Given the description of an element on the screen output the (x, y) to click on. 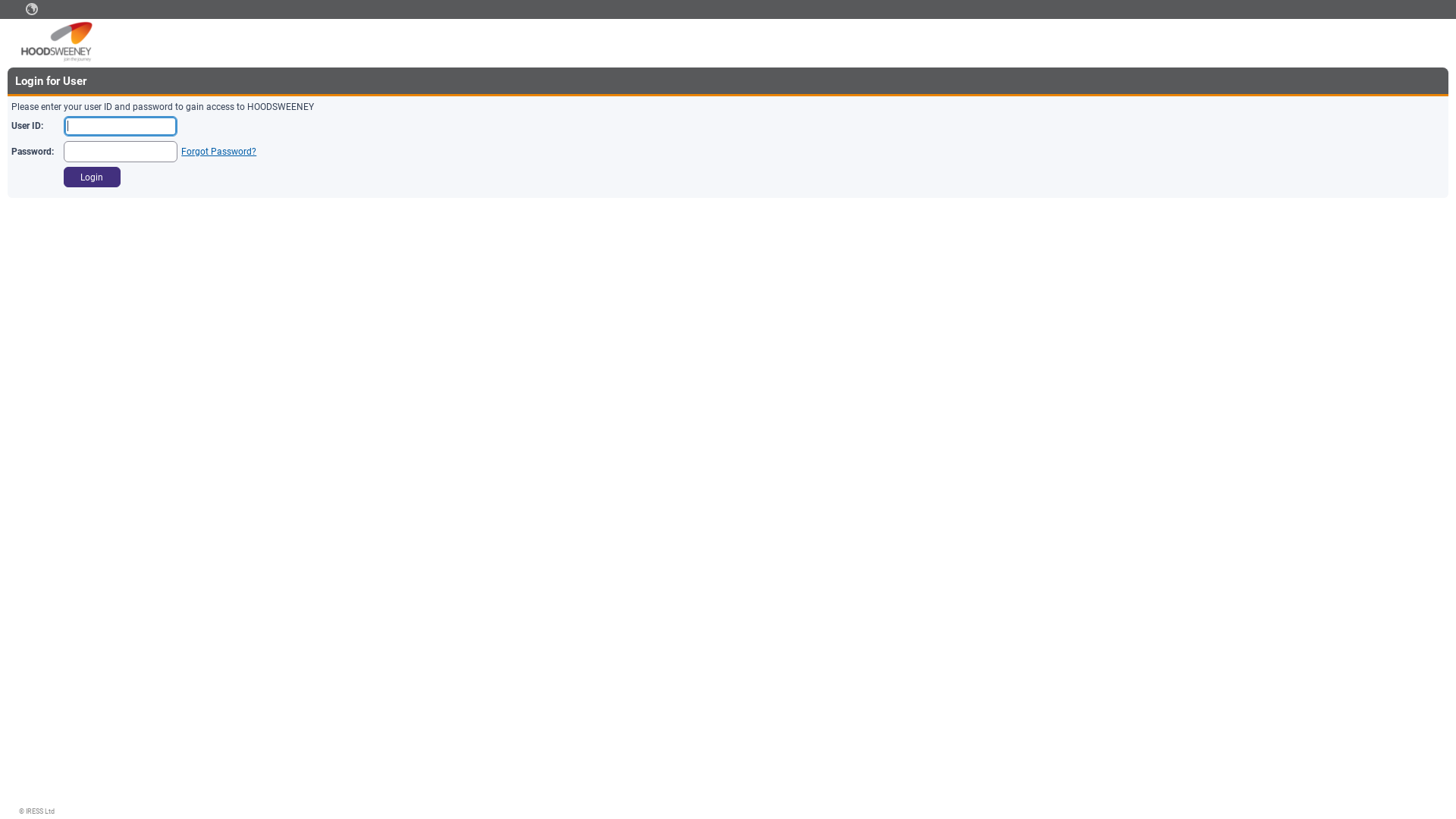
  Element type: text (31, 9)
Login Element type: text (91, 177)
Forgot Password? Element type: text (218, 151)
